Given the description of an element on the screen output the (x, y) to click on. 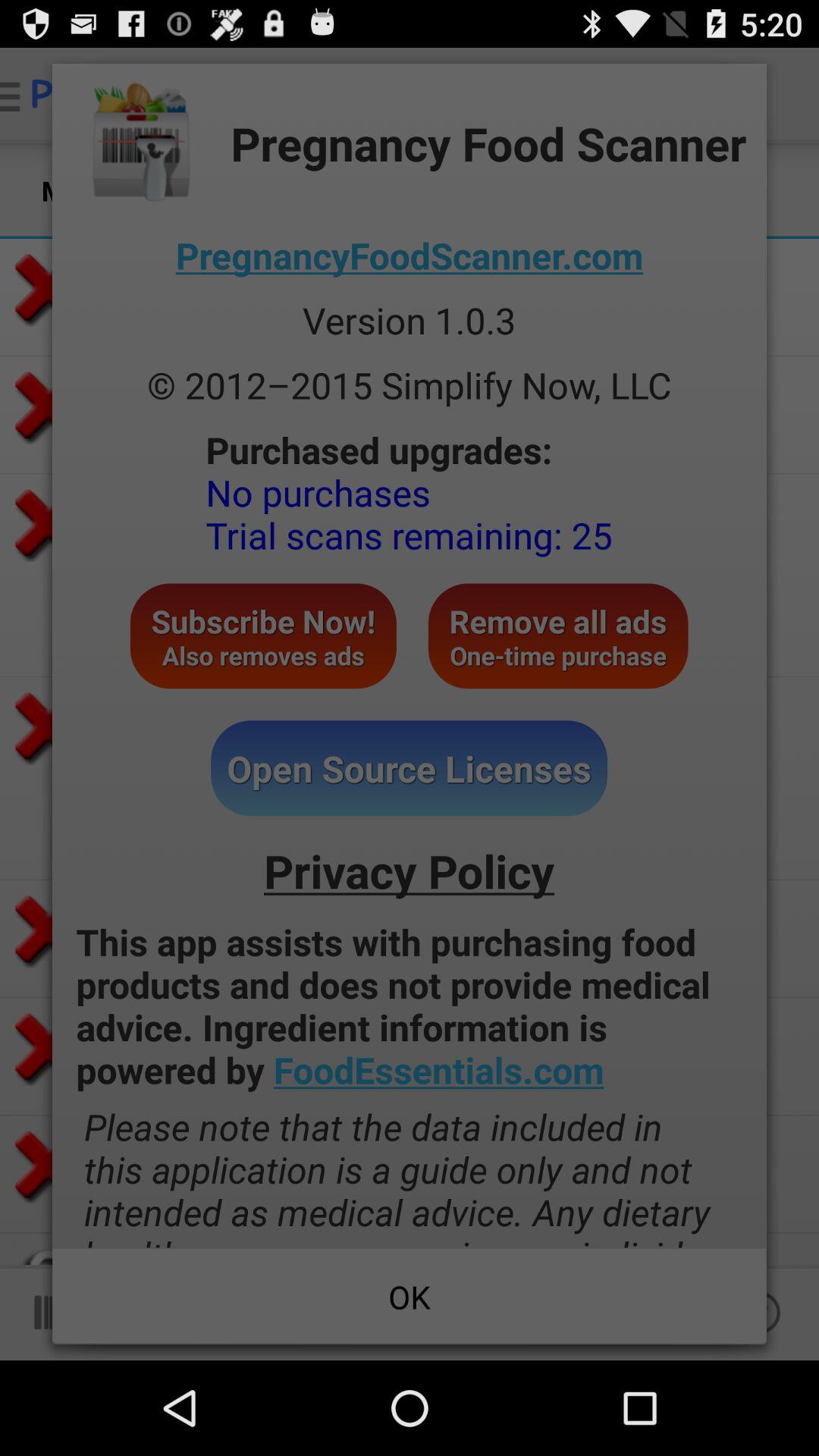
launch icon above the open source licenses item (558, 635)
